Given the description of an element on the screen output the (x, y) to click on. 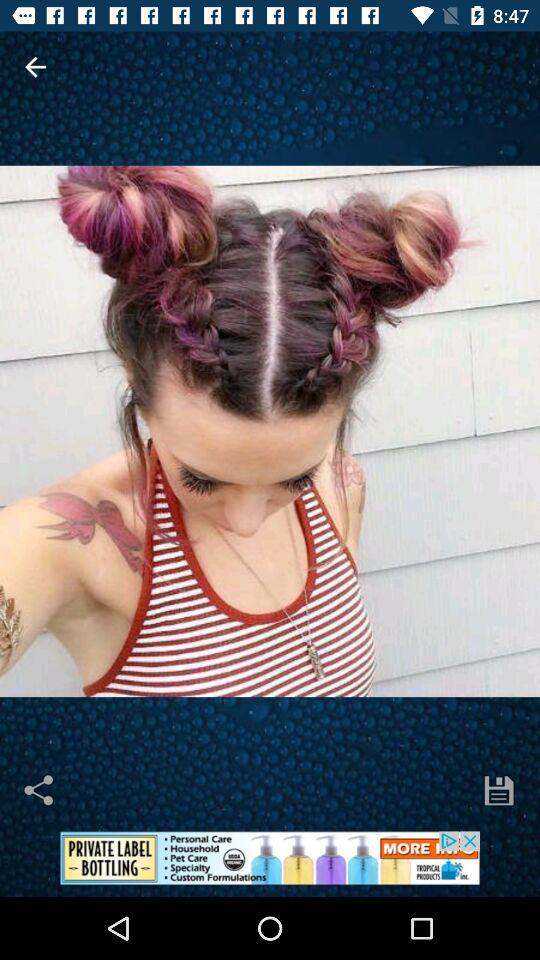
go to save (499, 790)
